Given the description of an element on the screen output the (x, y) to click on. 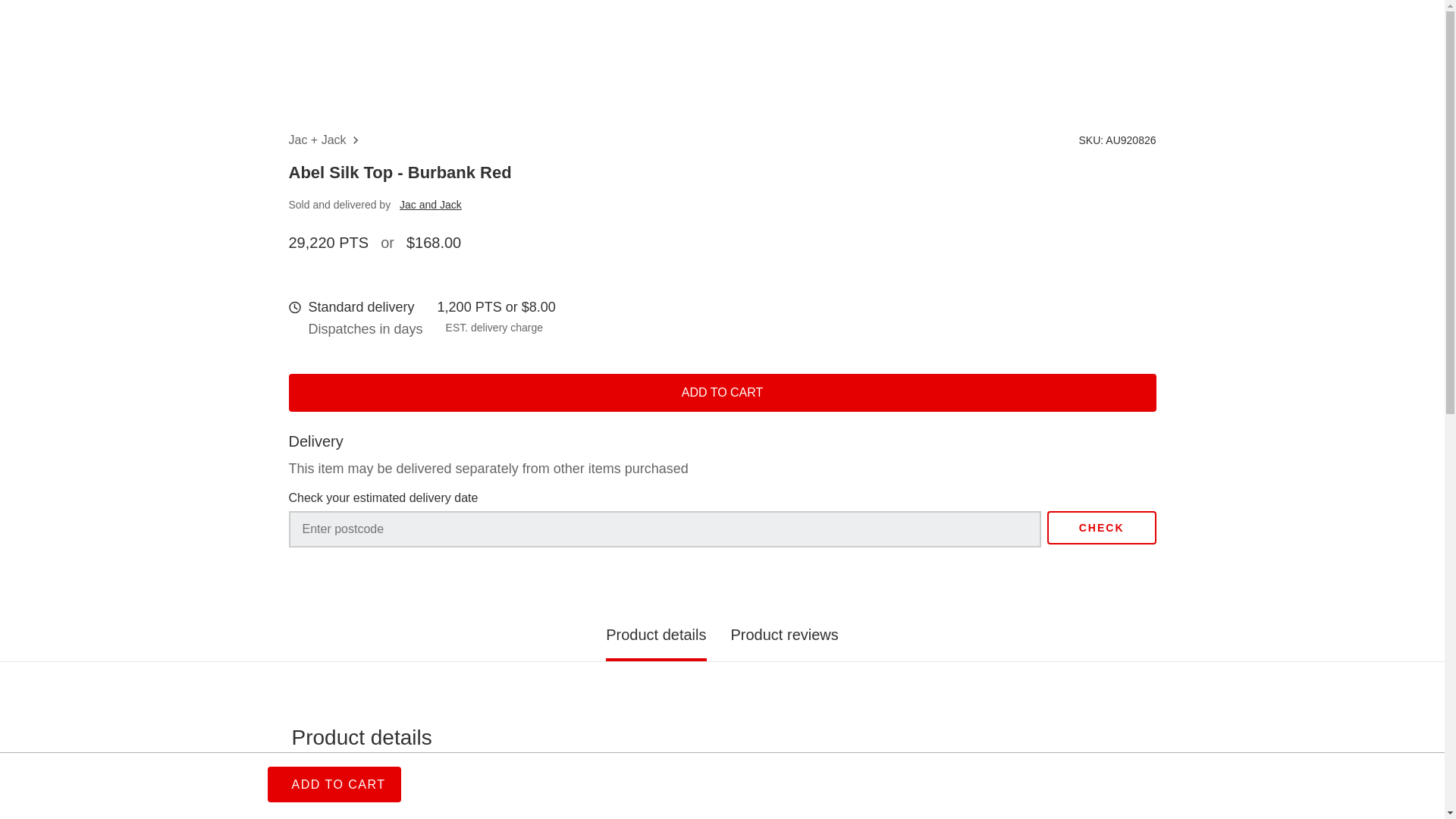
Jac and Jack (429, 204)
ADD TO CART (722, 392)
Product details (722, 770)
CHECK (1101, 527)
ADD TO CART (333, 784)
